Given the description of an element on the screen output the (x, y) to click on. 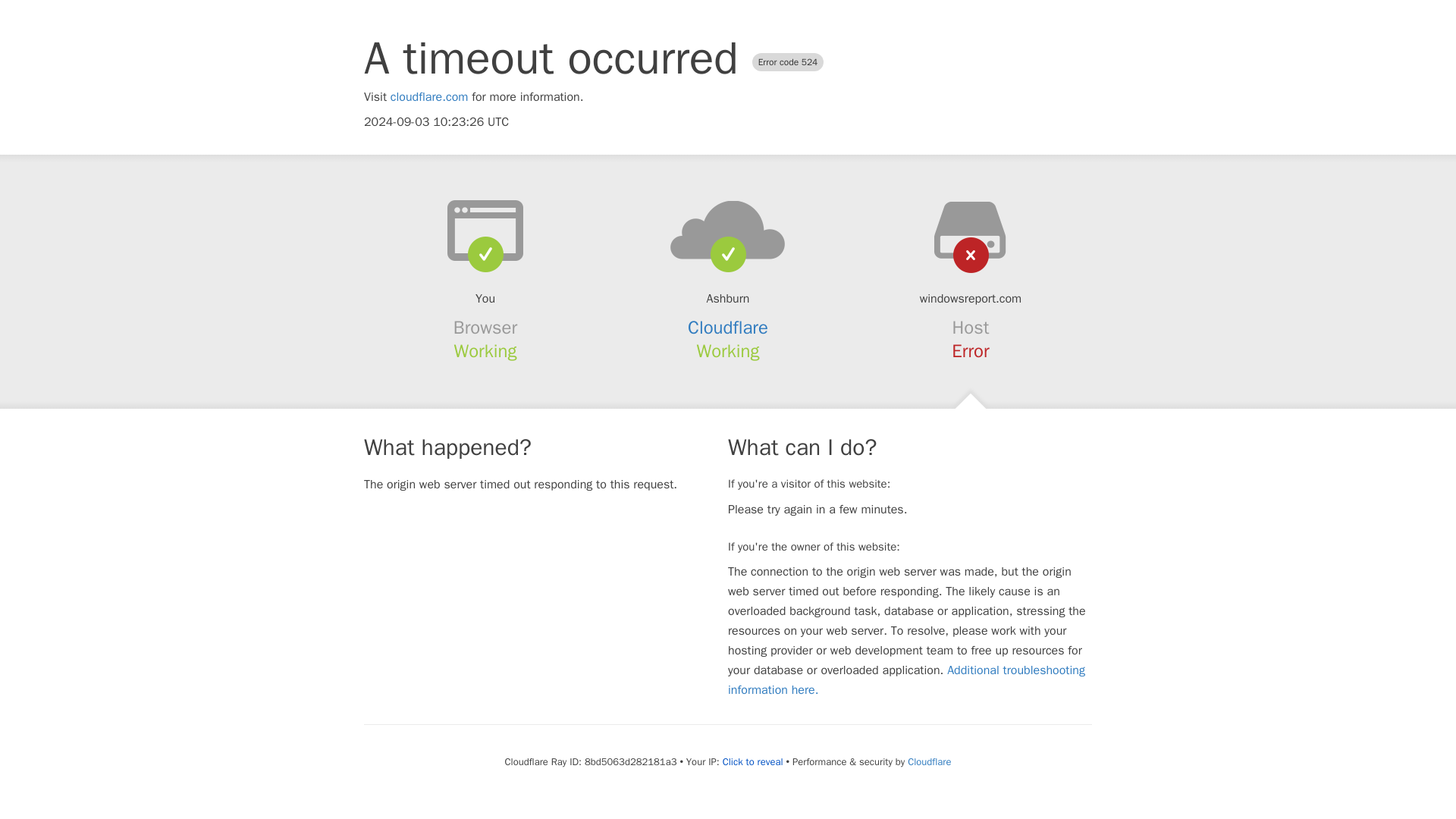
cloudflare.com (429, 96)
Cloudflare (727, 327)
Cloudflare (928, 761)
Click to reveal (752, 762)
Additional troubleshooting information here. (906, 679)
